Given the description of an element on the screen output the (x, y) to click on. 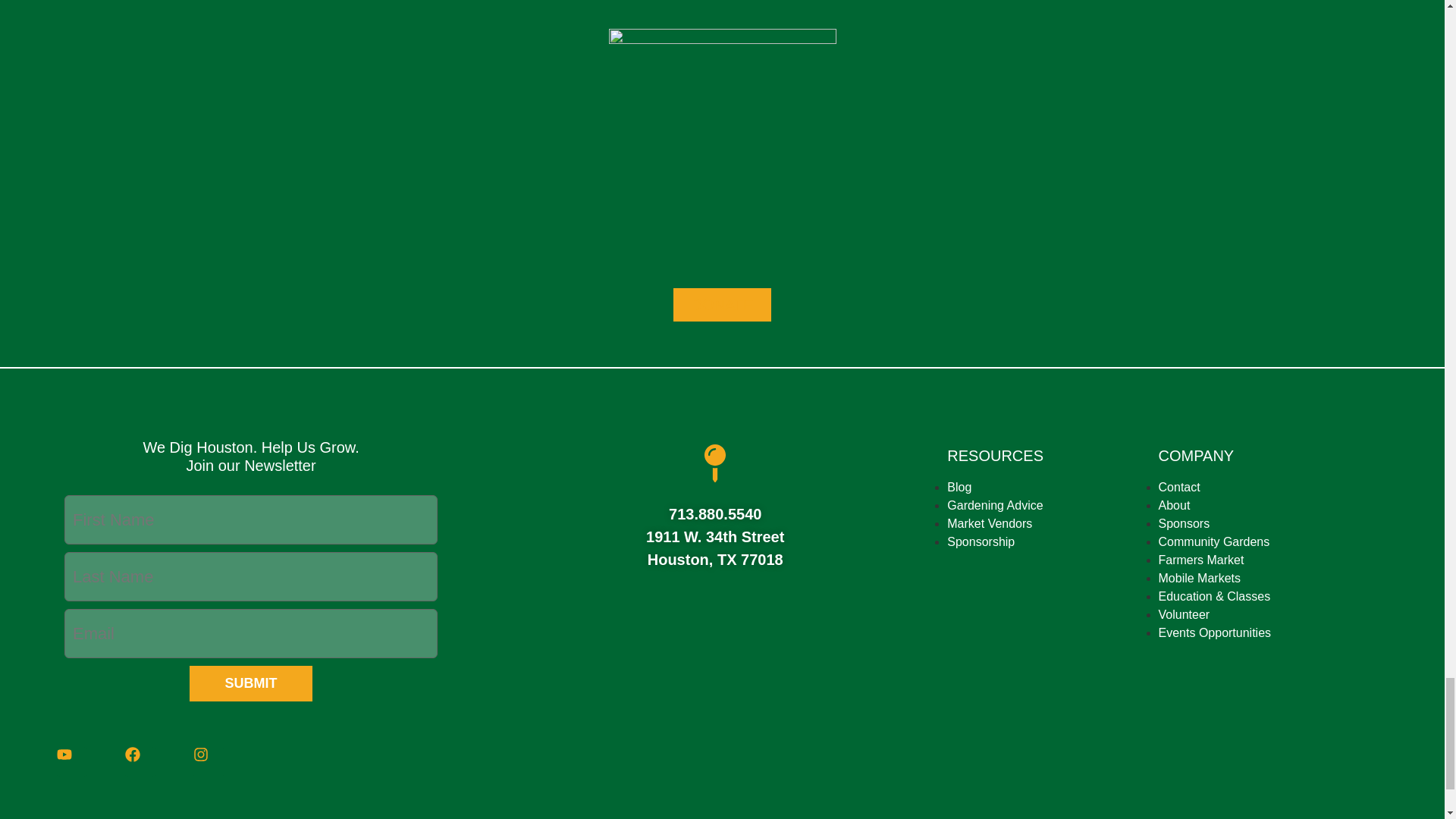
Submit (251, 683)
